Given the description of an element on the screen output the (x, y) to click on. 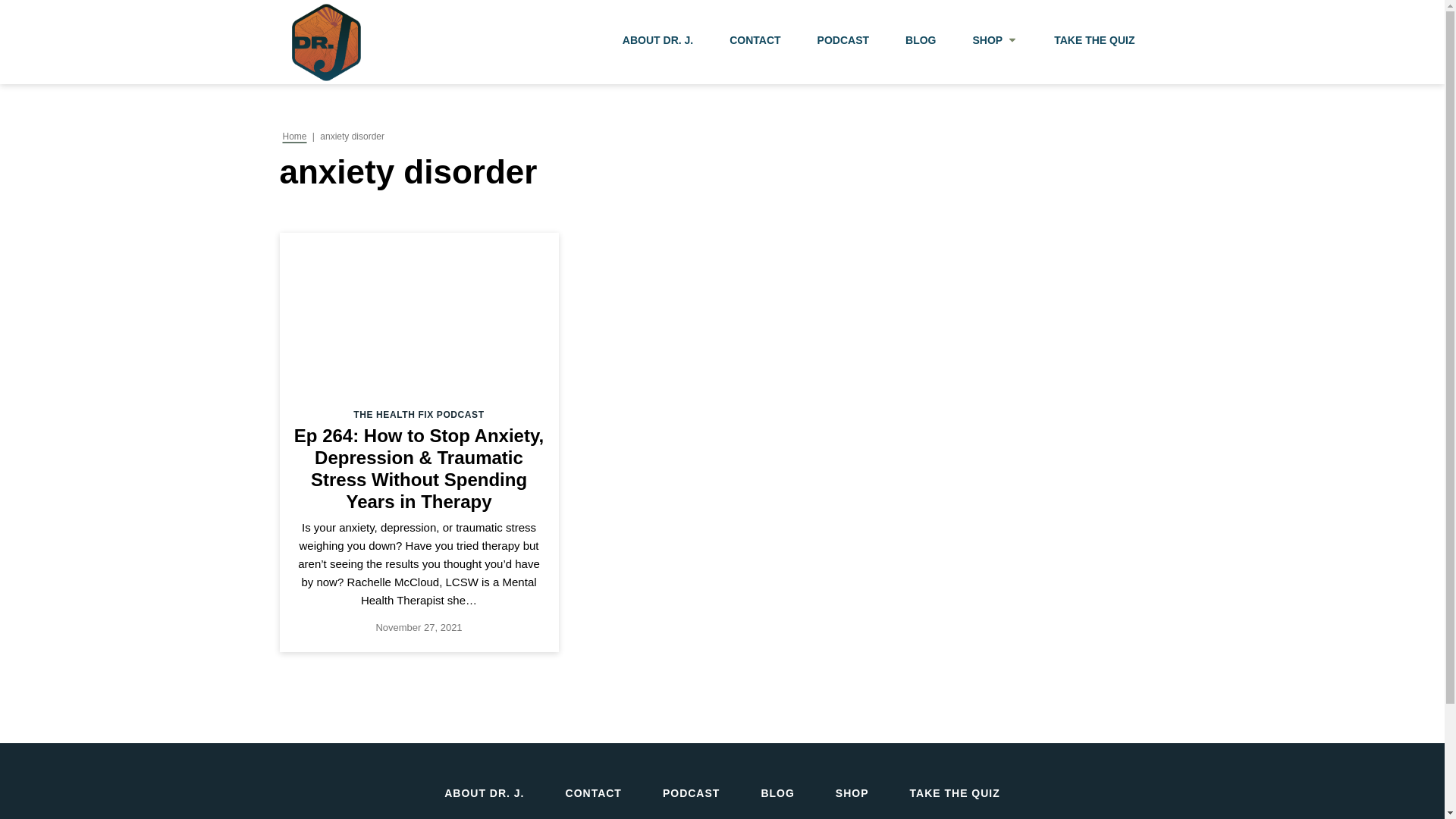
SHOP (852, 792)
Dr. Jannine Krause (325, 42)
TAKE THE QUIZ (1094, 42)
PODCAST (842, 42)
THE HEALTH FIX PODCAST (418, 414)
BLOG (776, 792)
PODCAST (690, 792)
ABOUT DR. J. (484, 792)
ABOUT DR. J. (657, 42)
TAKE THE QUIZ (954, 792)
